Given the description of an element on the screen output the (x, y) to click on. 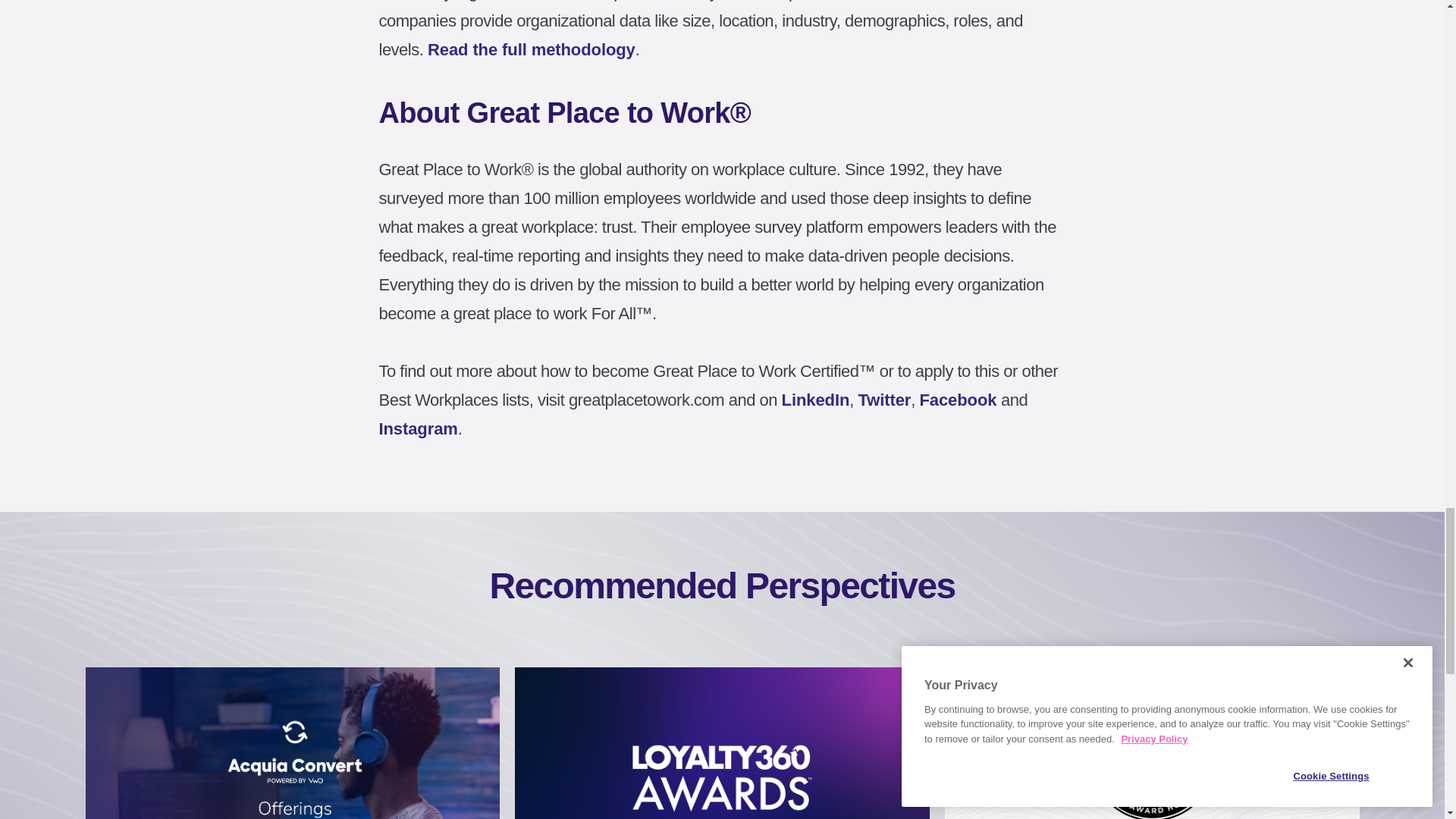
Instagram (418, 428)
Read the full methodology (532, 49)
LinkedIn (815, 399)
Twitter (885, 399)
Facebook (958, 399)
